Given the description of an element on the screen output the (x, y) to click on. 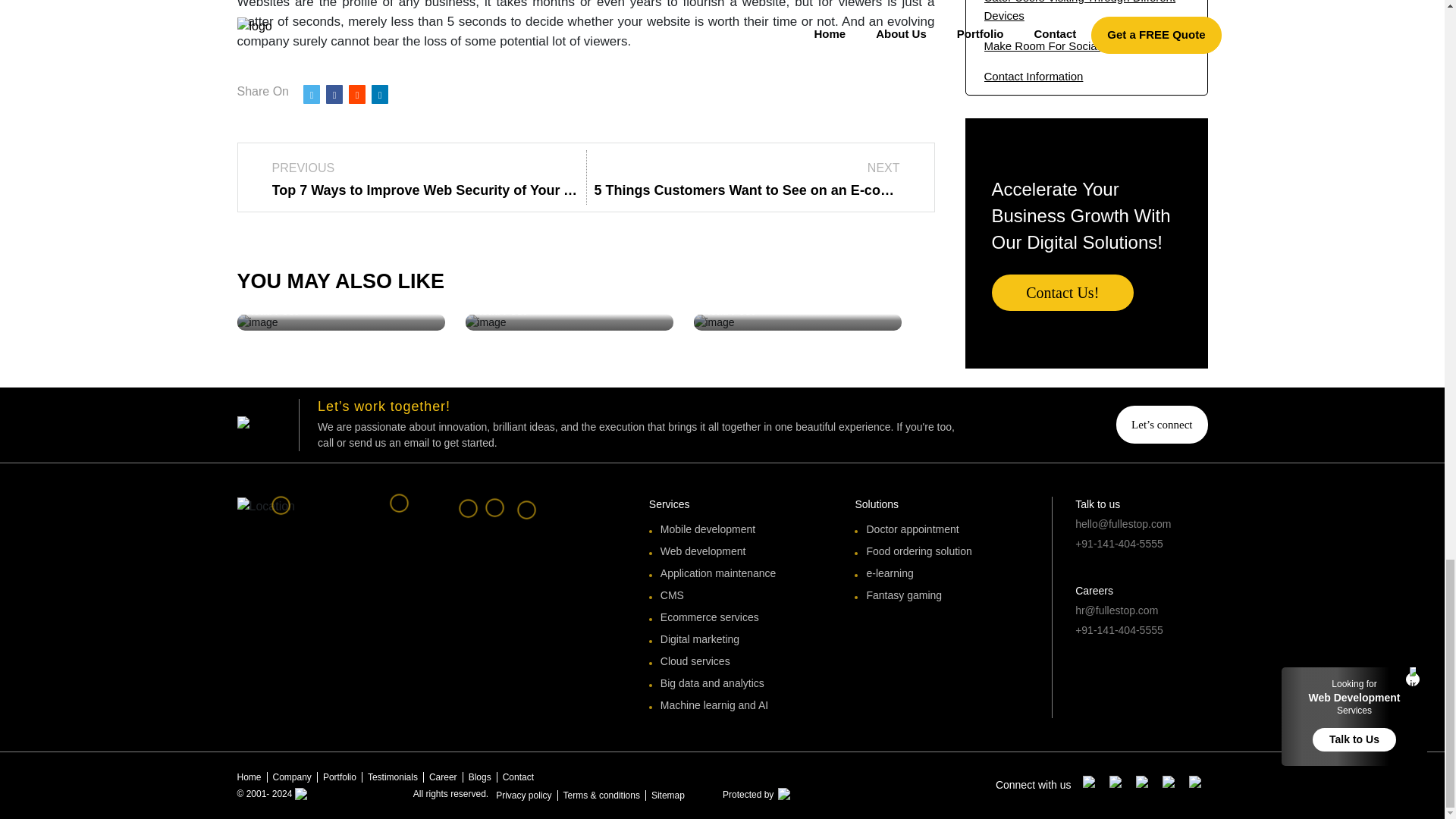
Share on Linkedin (379, 94)
Submit to Reddit (357, 94)
Tweet on Twitter (311, 94)
Read Post (499, 310)
Share on Facebook (334, 94)
Read Post (271, 310)
Read Post (727, 310)
